Given the description of an element on the screen output the (x, y) to click on. 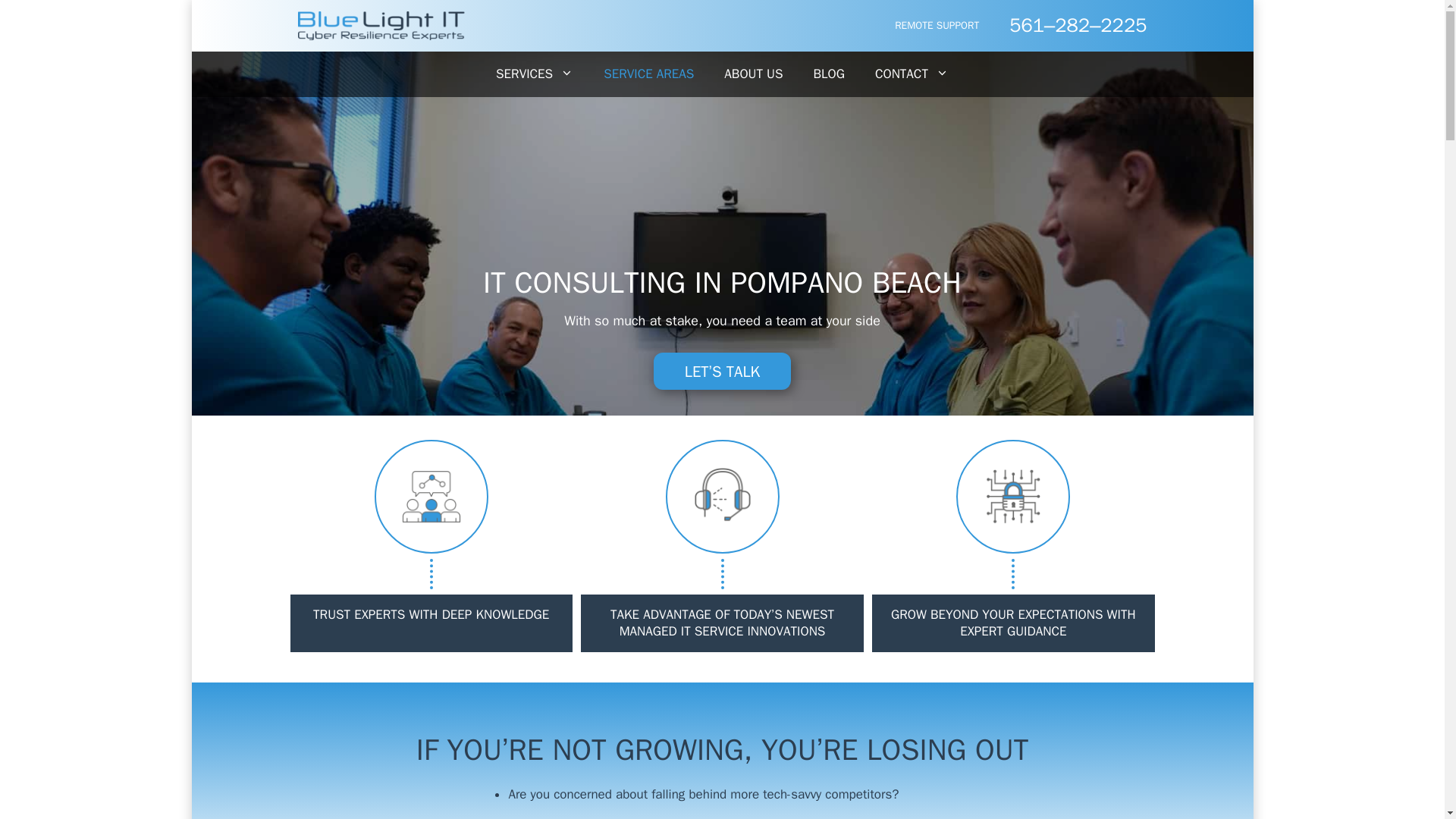
SERVICE AREAS (648, 74)
ABOUT US (753, 74)
REMOTE SUPPORT (936, 24)
BLOG (828, 74)
SERVICES (534, 74)
CONTACT (911, 74)
